Given the description of an element on the screen output the (x, y) to click on. 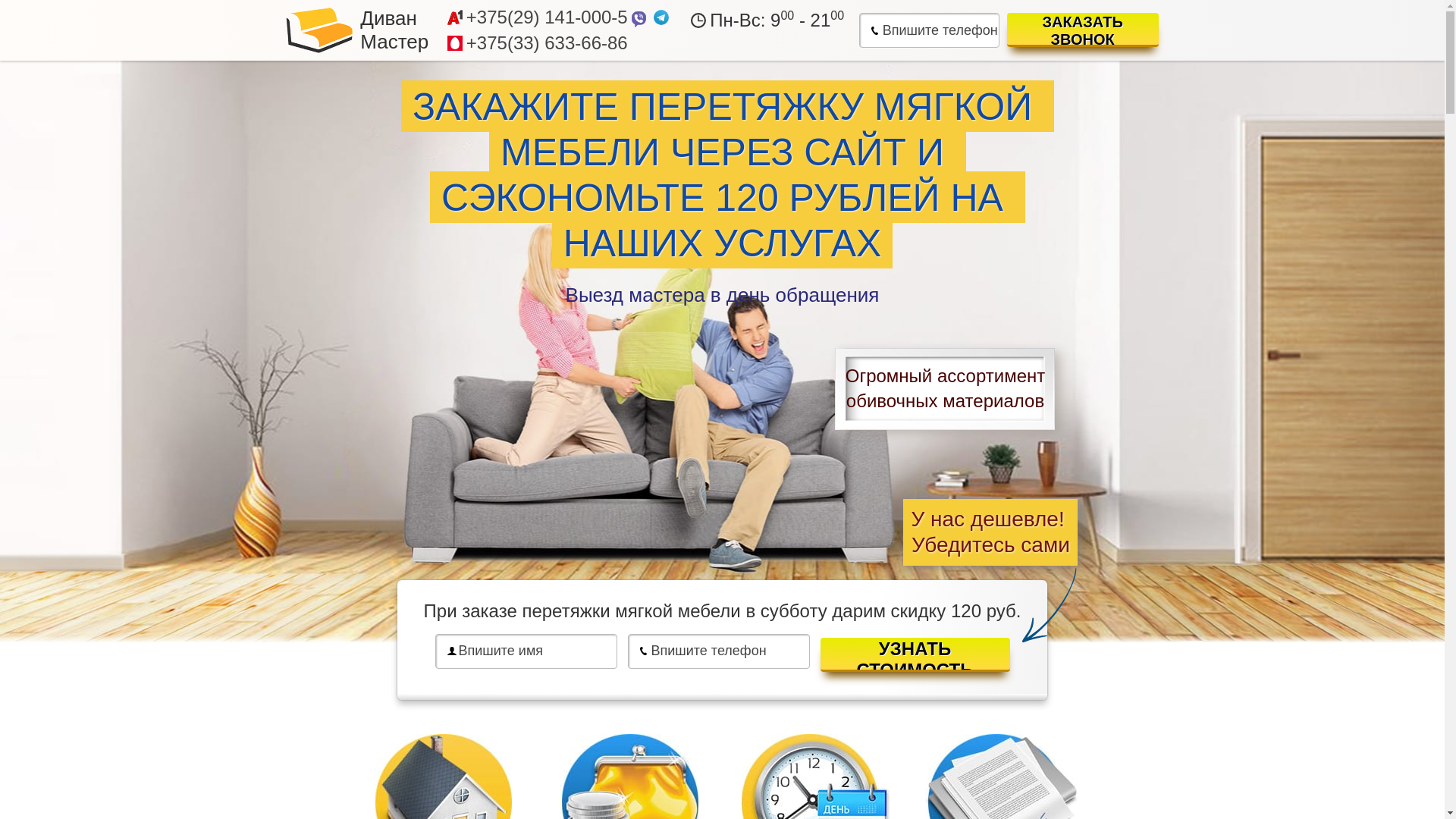
+375(33) 633-66-86 Element type: text (546, 43)
+375(29) 141-000-5 Element type: text (546, 17)
